Given the description of an element on the screen output the (x, y) to click on. 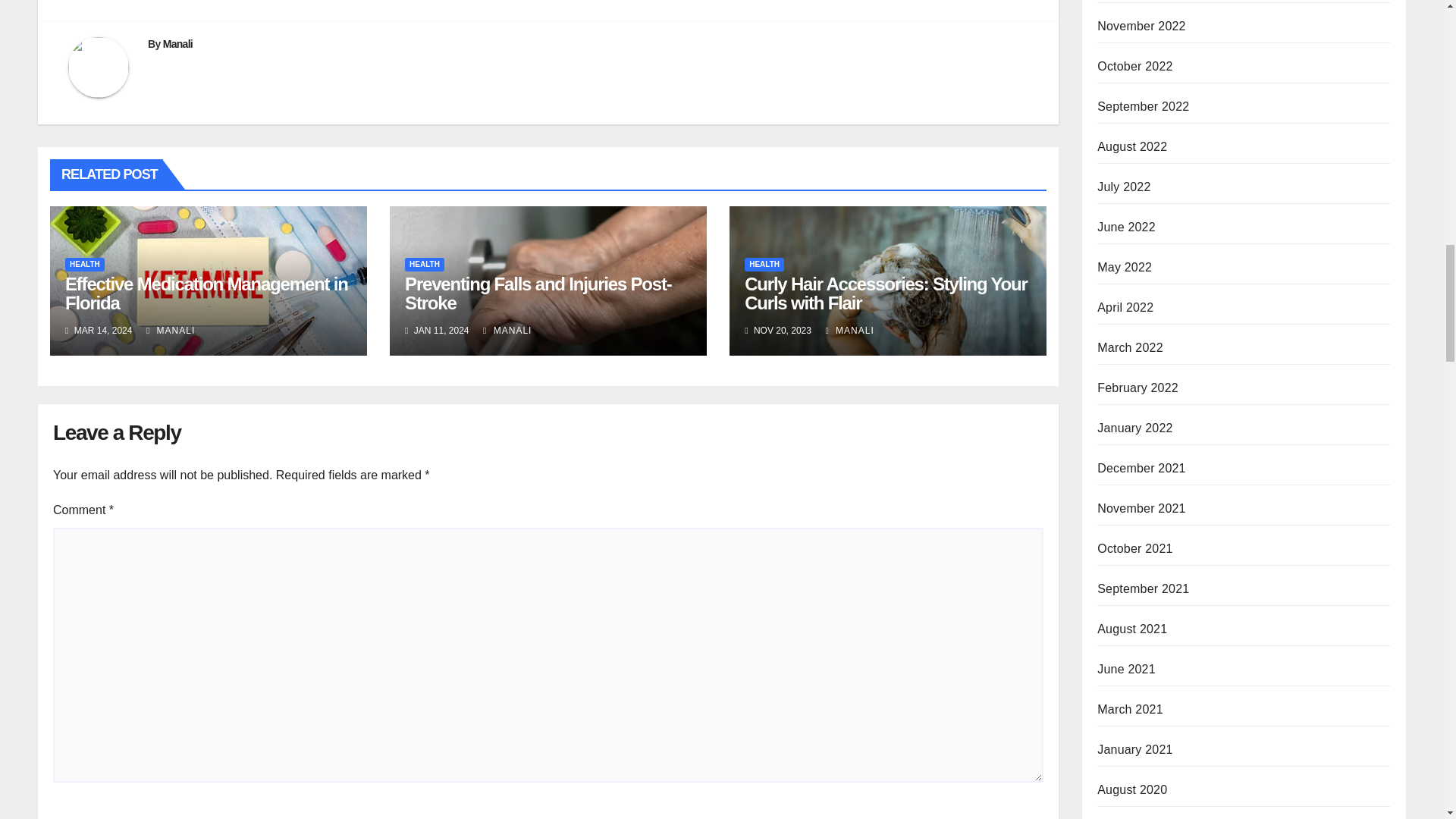
HEALTH (84, 264)
Effective Medication Management in Florida (206, 292)
Preventing Falls and Injuries Post-Stroke (537, 292)
HEALTH (424, 264)
Permalink to: Preventing Falls and Injuries Post-Stroke (537, 292)
MANALI (849, 330)
MANALI (171, 330)
MANALI (507, 330)
Permalink to: Effective Medication Management in Florida (206, 292)
